Given the description of an element on the screen output the (x, y) to click on. 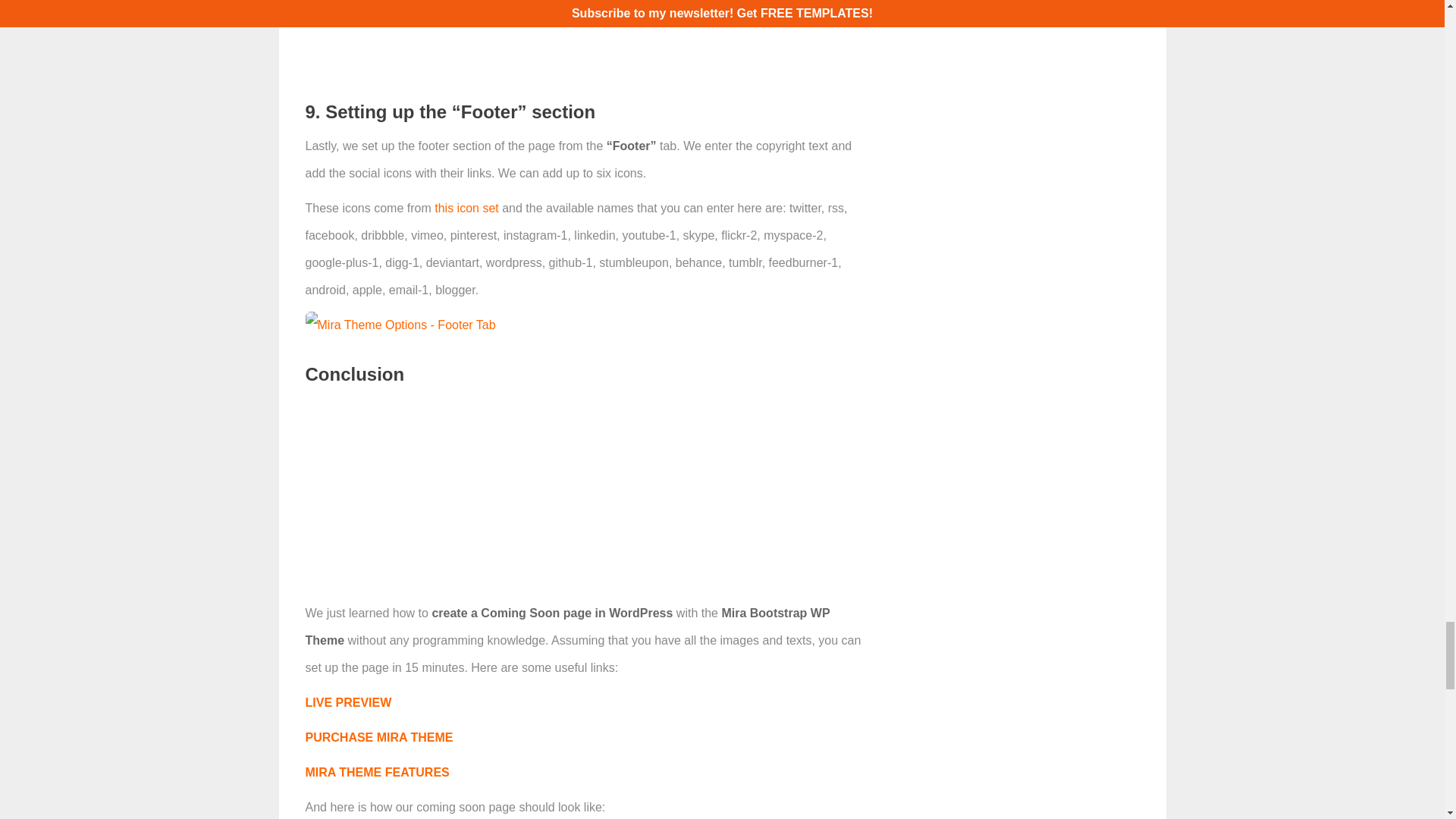
this icon set (465, 207)
MIRA THEME FEATURES (376, 771)
PURCHASE MIRA THEME (378, 737)
LIVE PREVIEW (347, 702)
